Given the description of an element on the screen output the (x, y) to click on. 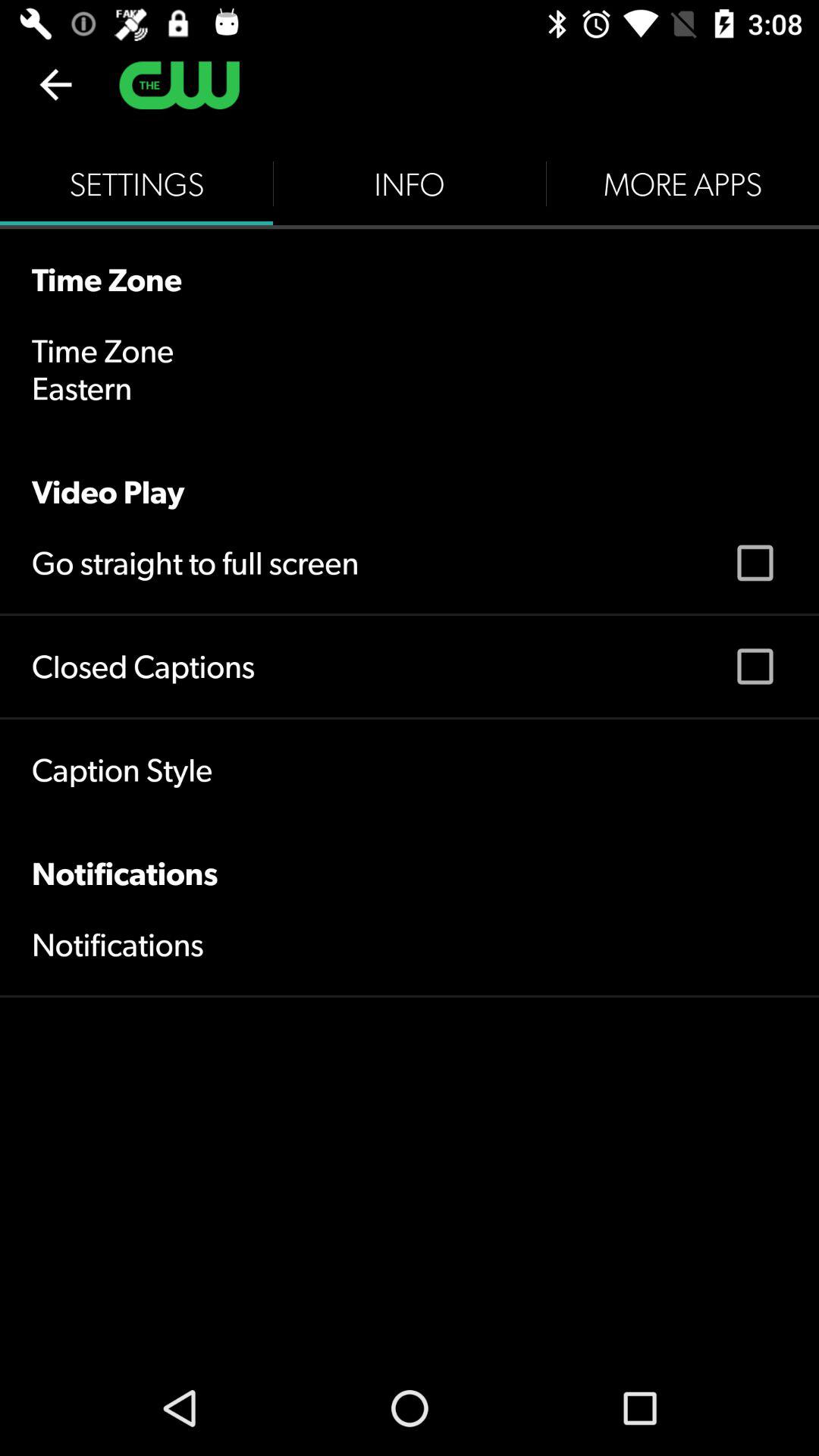
launch the item next to more apps item (409, 184)
